Given the description of an element on the screen output the (x, y) to click on. 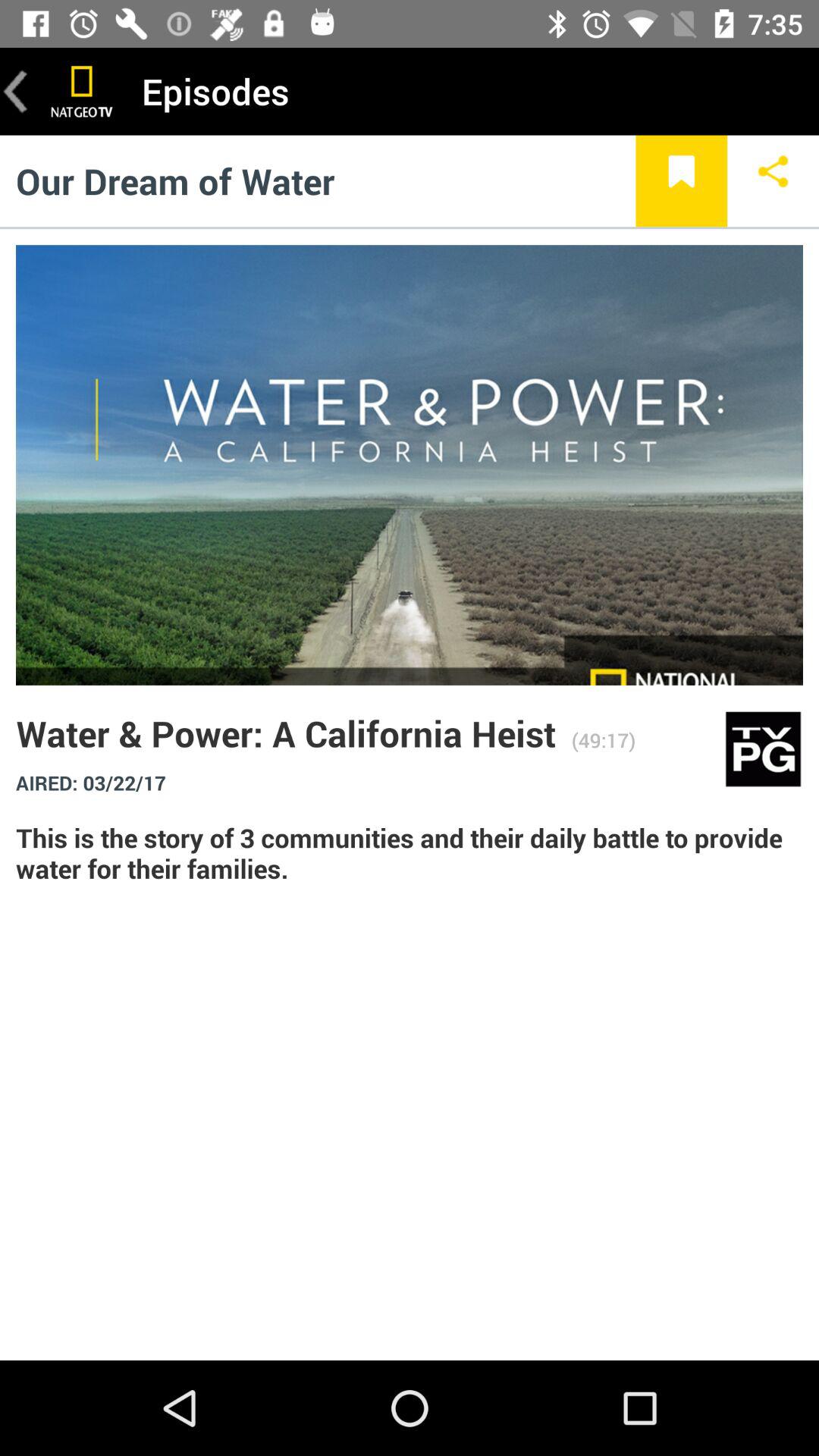
share page (773, 180)
